Given the description of an element on the screen output the (x, y) to click on. 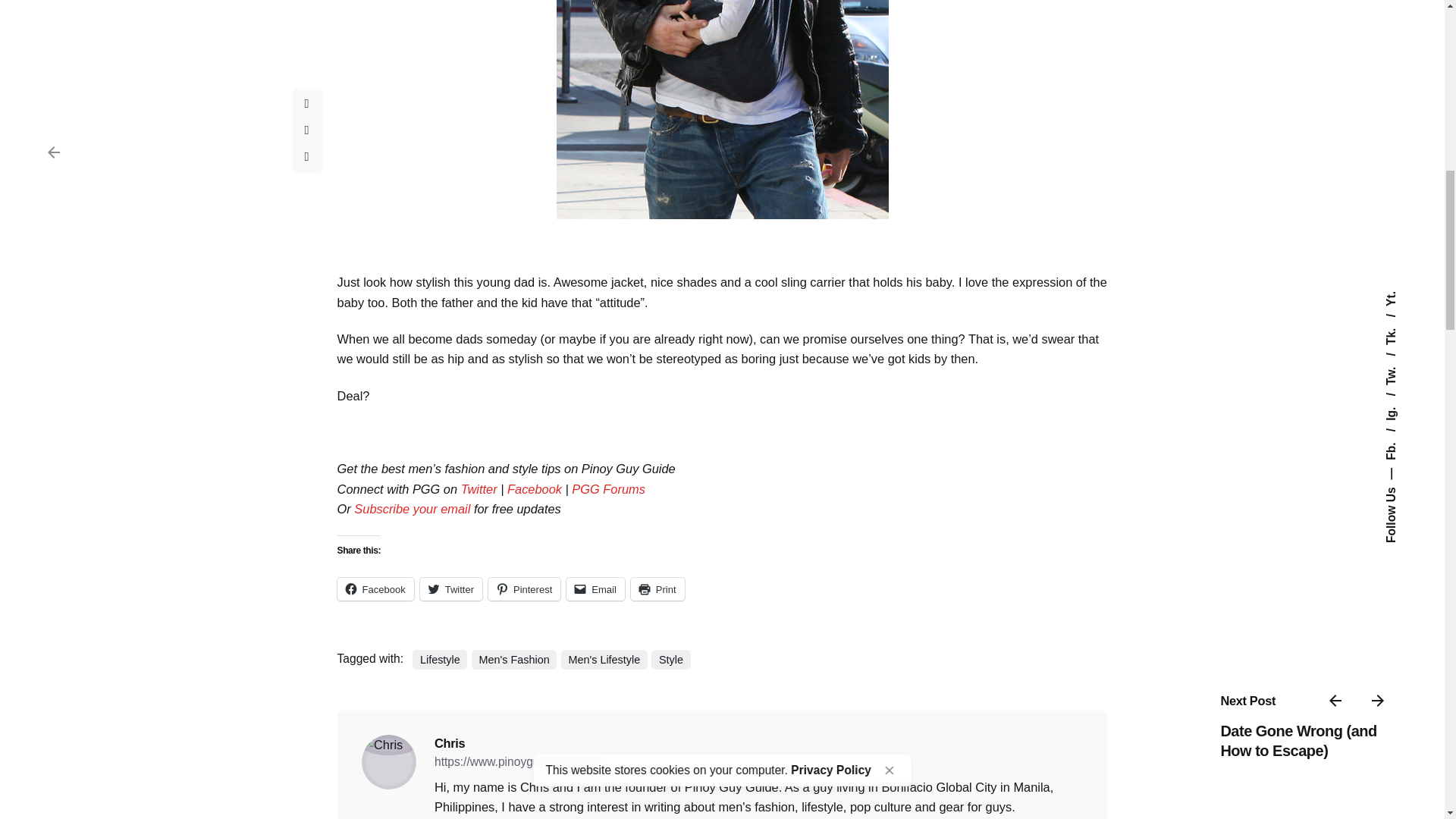
Click to share on Pinterest (523, 589)
Click to email a link to a friend (595, 589)
Click to print (657, 589)
Click to share on Twitter (450, 589)
Click to share on Facebook (375, 589)
